Given the description of an element on the screen output the (x, y) to click on. 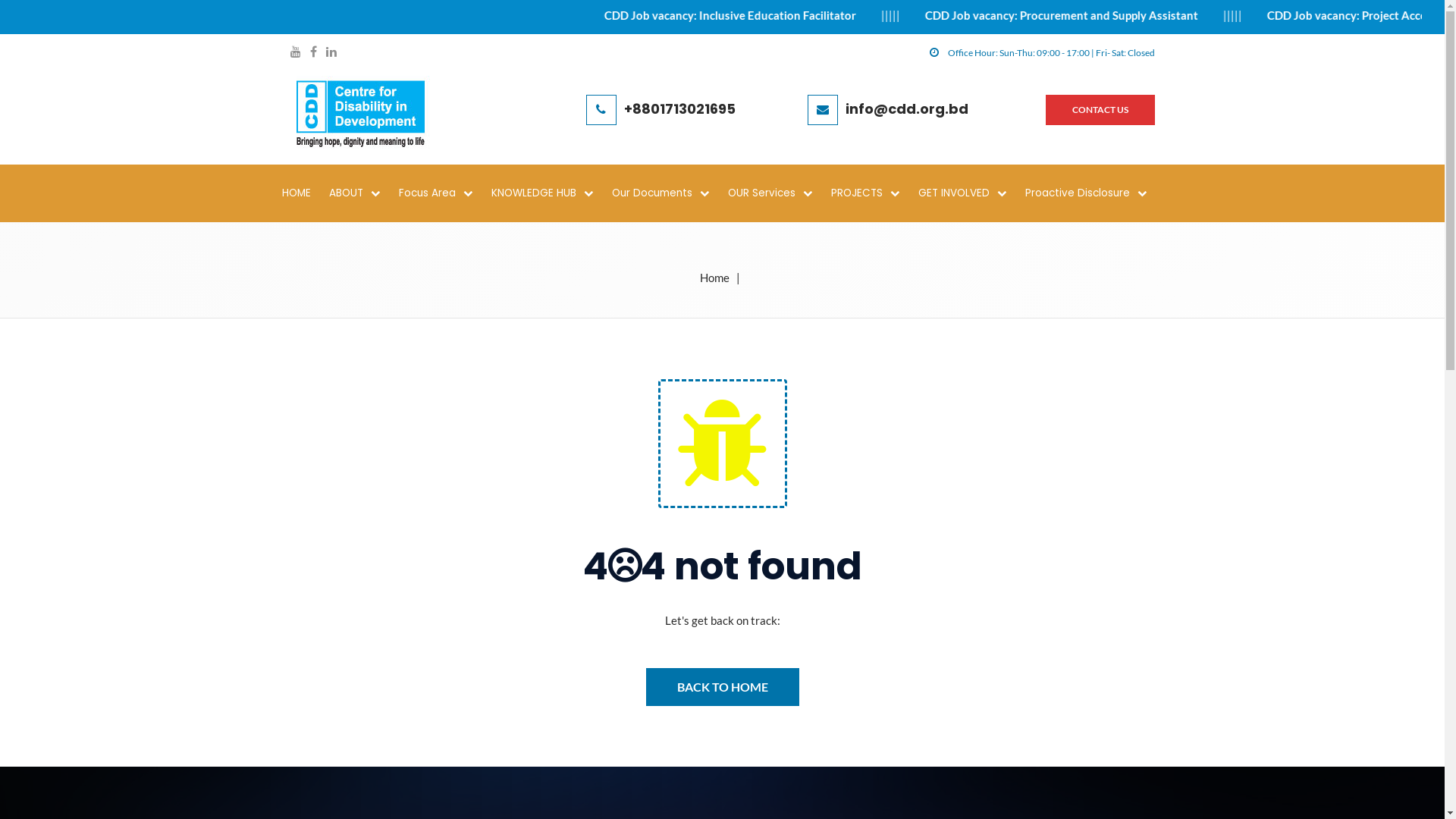
linkedin link Element type: text (331, 52)
PROJECTS Element type: text (873, 193)
facebook link Element type: text (312, 52)
CDD Job vacancy: Inclusive Education Facilitator Element type: text (845, 14)
KNOWLEDGE HUB Element type: text (549, 193)
youtube link Element type: text (294, 52)
BACK TO HOME Element type: text (722, 687)
CONTACT US Element type: text (1099, 109)
Home Element type: text (714, 277)
OUR Services Element type: text (778, 193)
Proactive Disclosure Element type: text (1093, 193)
Focus Area Element type: text (443, 193)
info@cdd.org.bd Element type: text (906, 108)
Our Documents Element type: text (667, 193)
GET INVOLVED Element type: text (970, 193)
HOME Element type: text (304, 193)
ABOUT Element type: text (362, 193)
CDD Job vacancy: Procurement and Supply Assistant Element type: text (1175, 14)
